Given the description of an element on the screen output the (x, y) to click on. 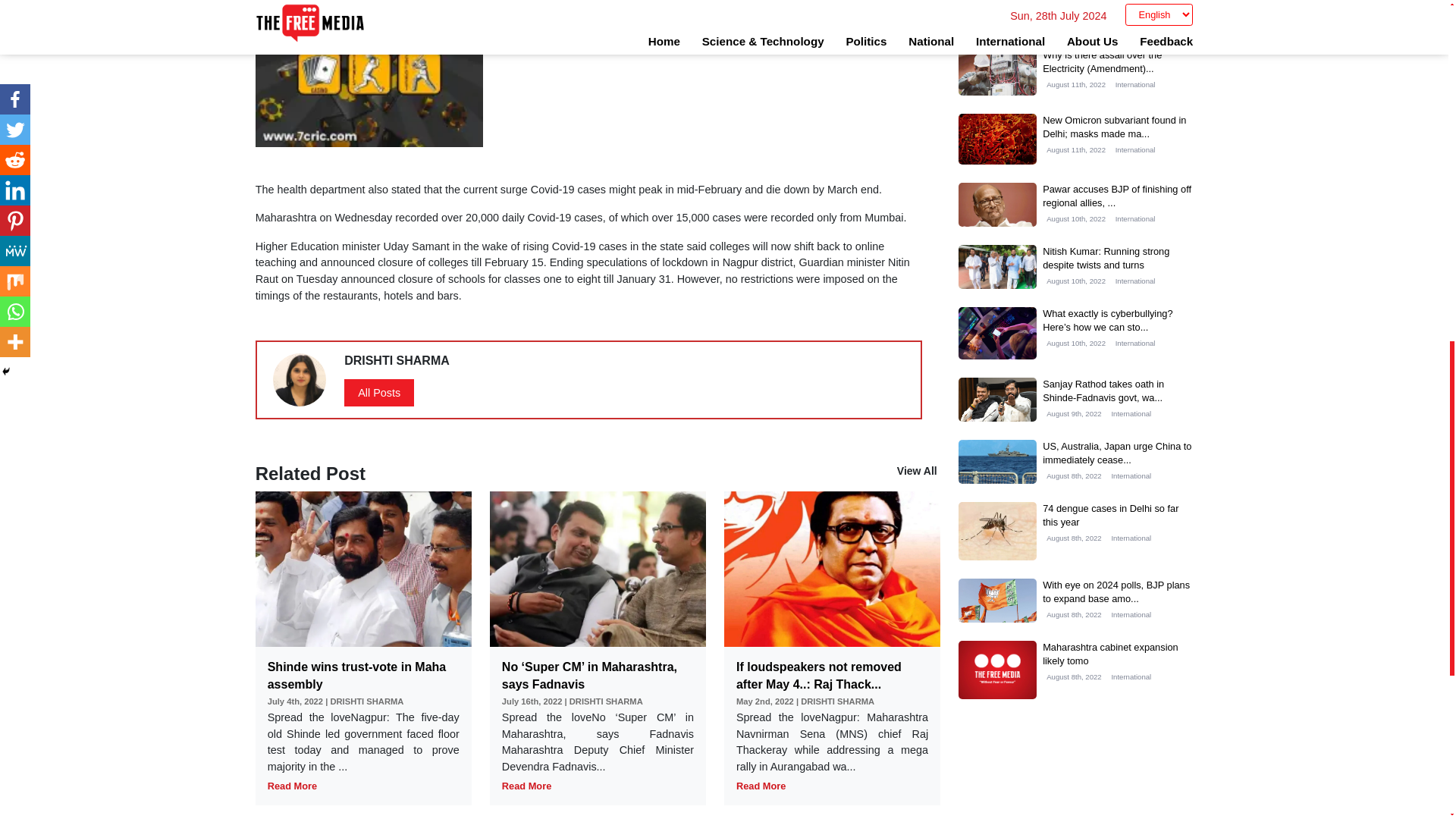
Claim Free Bets (369, 31)
January 6, 2022 (608, 31)
